Given the description of an element on the screen output the (x, y) to click on. 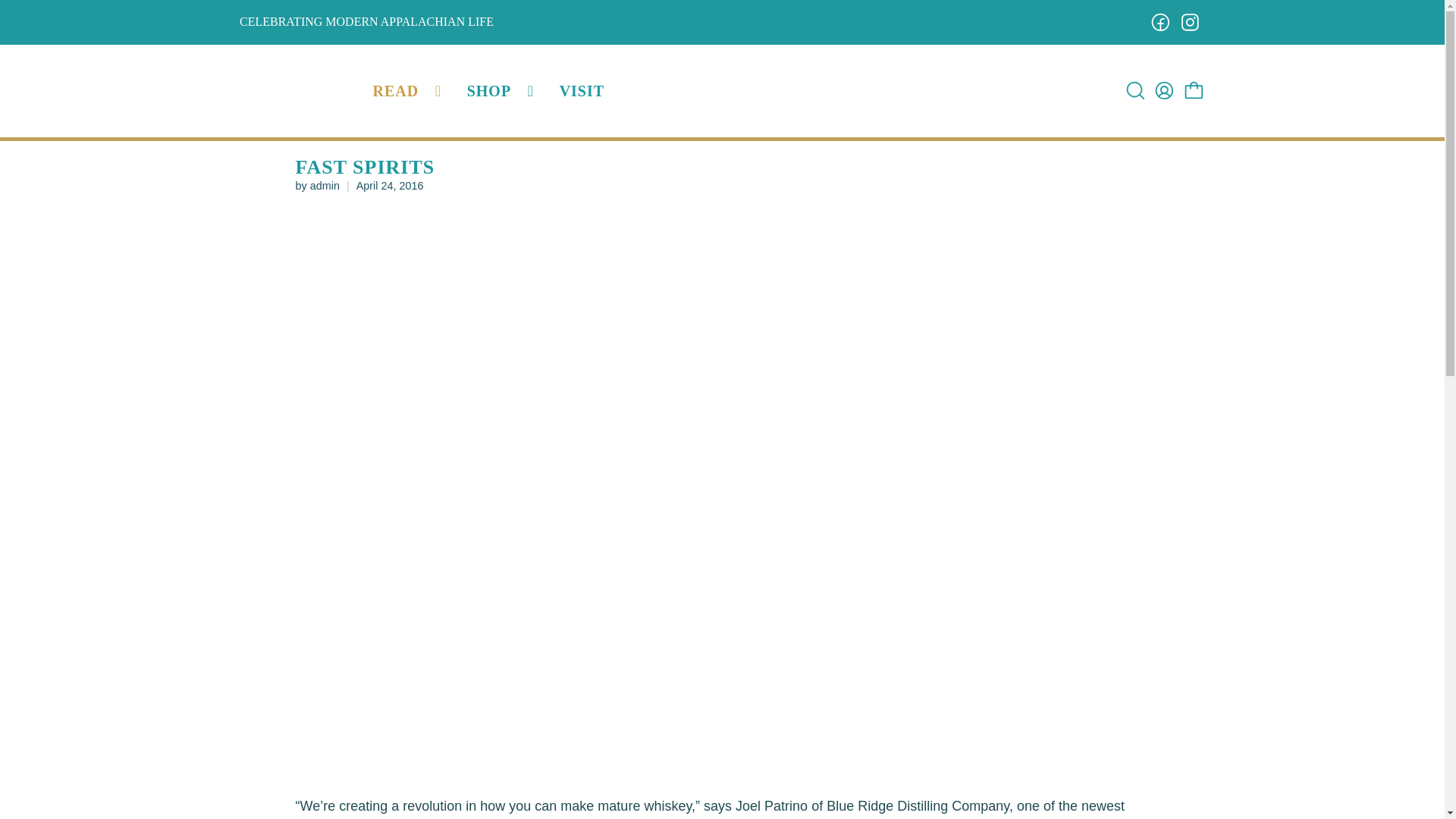
Woodshed: An Appalachian Joint on Facebook (1161, 22)
VISIT (581, 90)
READ (409, 90)
Woodshed: An Appalachian Joint on Instagram (1190, 22)
Woodshed: An Appalachian Joint (301, 91)
SHOP (502, 90)
